Given the description of an element on the screen output the (x, y) to click on. 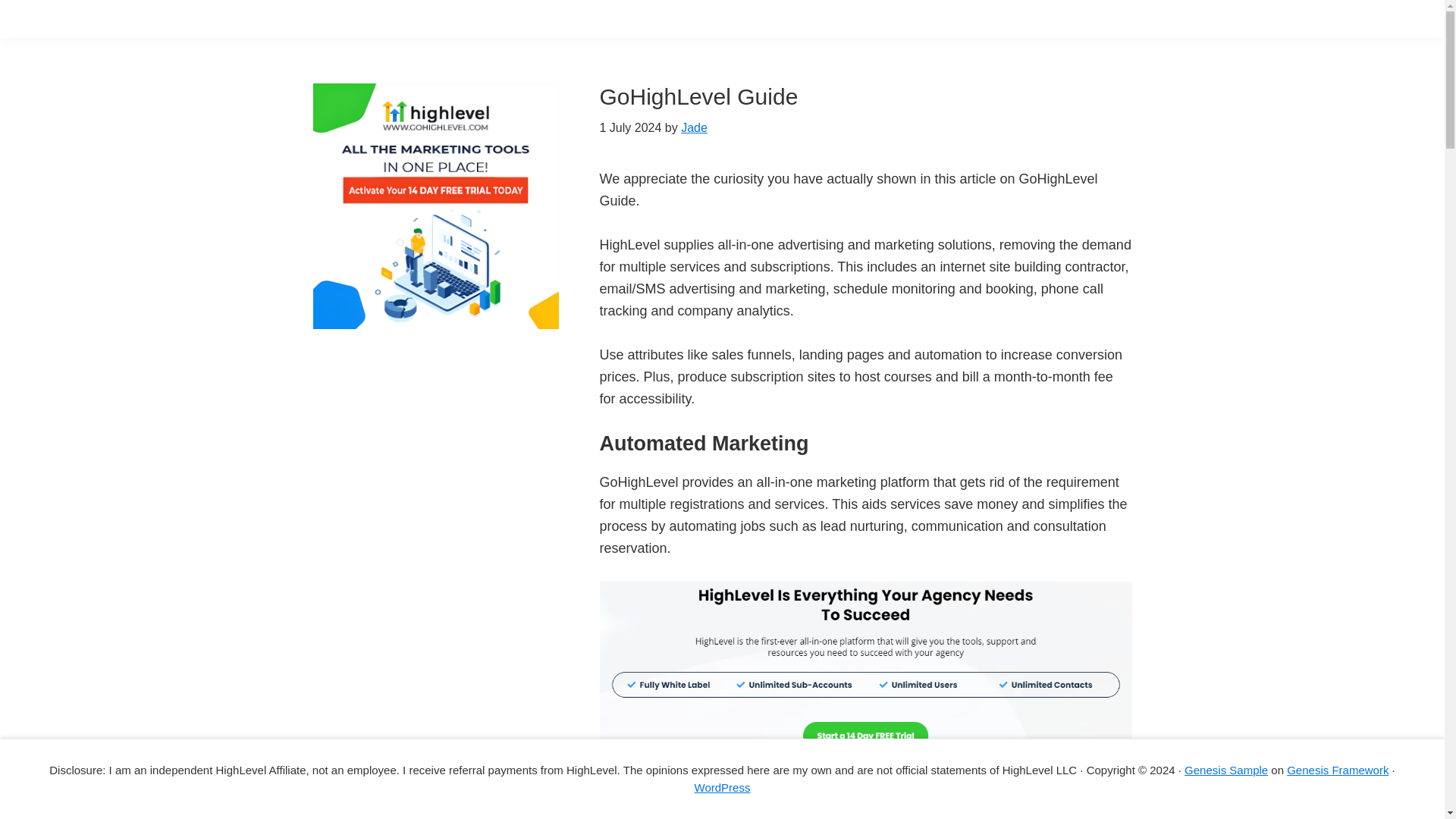
Jade (694, 127)
Genesis Sample (1226, 769)
WordPress (722, 787)
Genesis Framework (1338, 769)
